Given the description of an element on the screen output the (x, y) to click on. 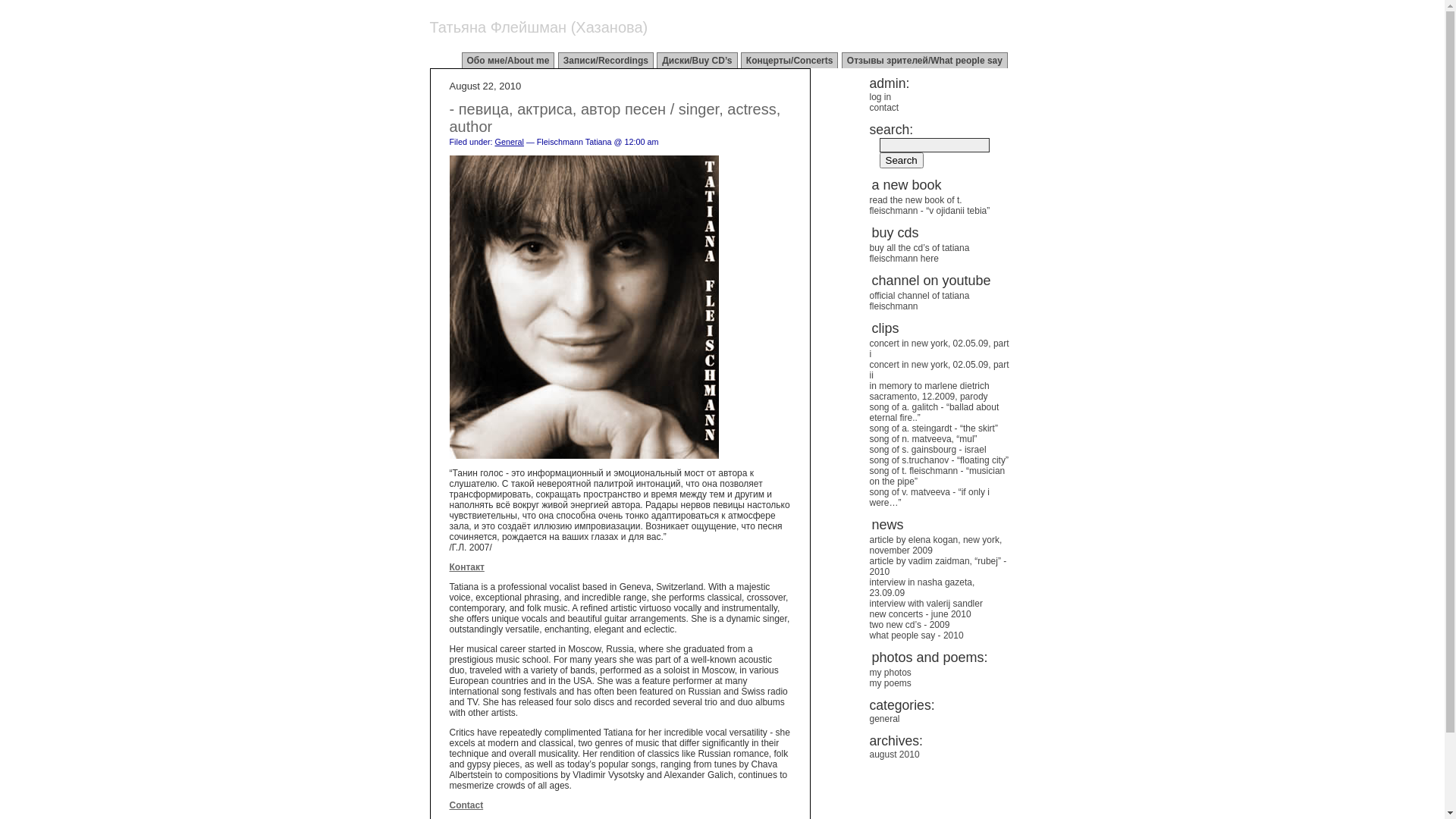
concert in new york, 02.05.09, part ii Element type: text (938, 369)
my photos Element type: text (889, 672)
Search Element type: text (901, 160)
sacramento, 12.2009, parody Element type: text (928, 396)
General Element type: text (509, 141)
official channel of tatiana fleischmann Element type: text (919, 300)
my poems Element type: text (889, 682)
interview in nasha gazeta, 23.09.09 Element type: text (921, 587)
Tatiana Fleischmann Element type: hover (583, 306)
interview with valerij sandler Element type: text (925, 603)
Contact Element type: text (465, 805)
august 2010 Element type: text (894, 754)
contact Element type: text (883, 107)
new concerts - june 2010 Element type: text (919, 613)
in memory to marlene dietrich Element type: text (928, 385)
article by elena kogan, new york, november 2009 Element type: text (935, 544)
song of s. gainsbourg - israel Element type: text (927, 449)
concert in new york, 02.05.09, part i Element type: text (938, 348)
log in Element type: text (880, 96)
what people say - 2010 Element type: text (916, 635)
general Element type: text (884, 718)
